Given the description of an element on the screen output the (x, y) to click on. 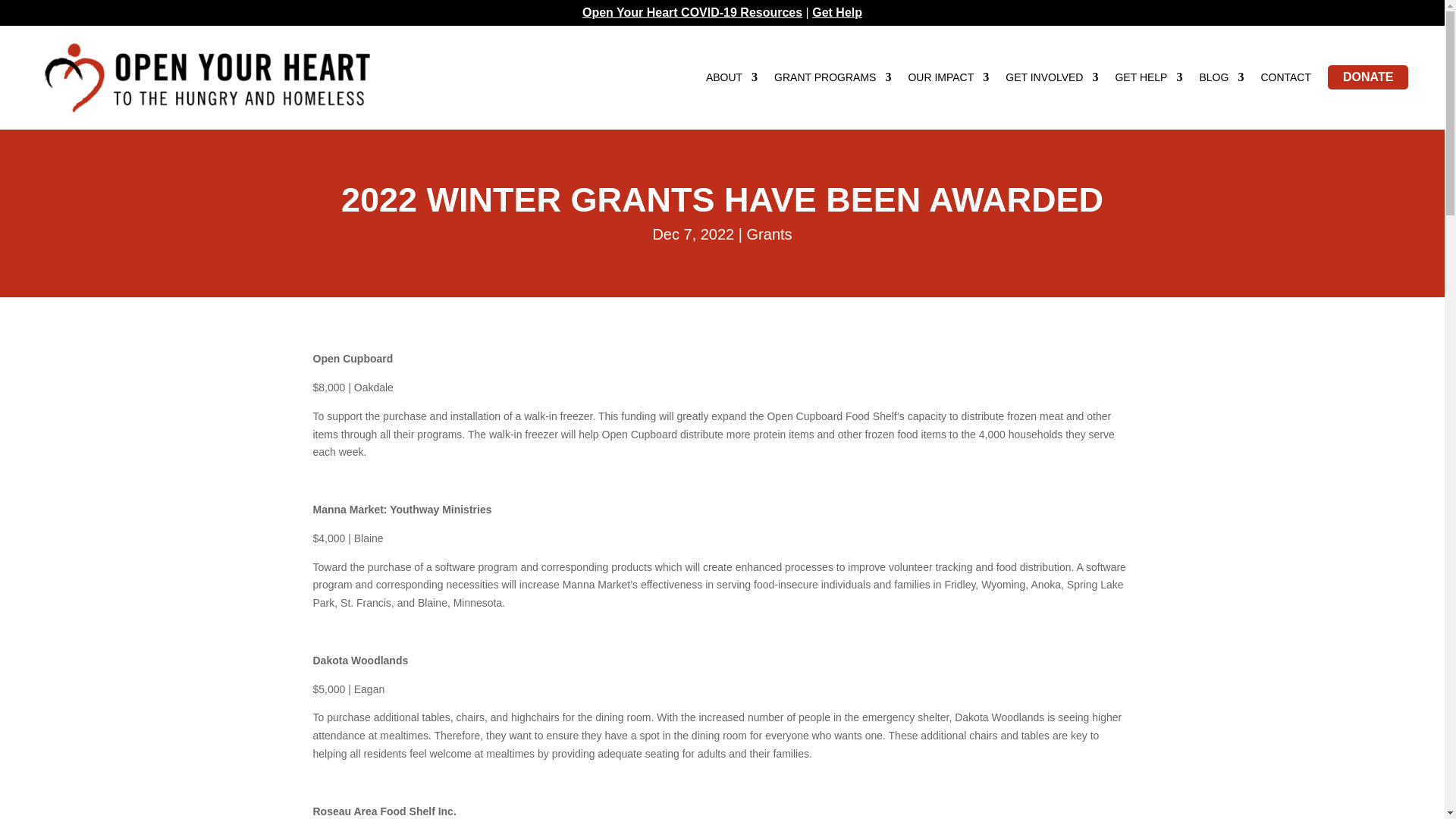
DONATE (1367, 80)
Get Help (836, 11)
GRANT PROGRAMS (832, 80)
Open Your Heart COVID-19 Resources (692, 11)
GET HELP (1148, 80)
DONATE (1367, 77)
BLOG (1220, 80)
OUR IMPACT (947, 80)
ABOUT (731, 80)
CONTACT (1285, 80)
GET INVOLVED (1051, 80)
Grants (769, 234)
